Given the description of an element on the screen output the (x, y) to click on. 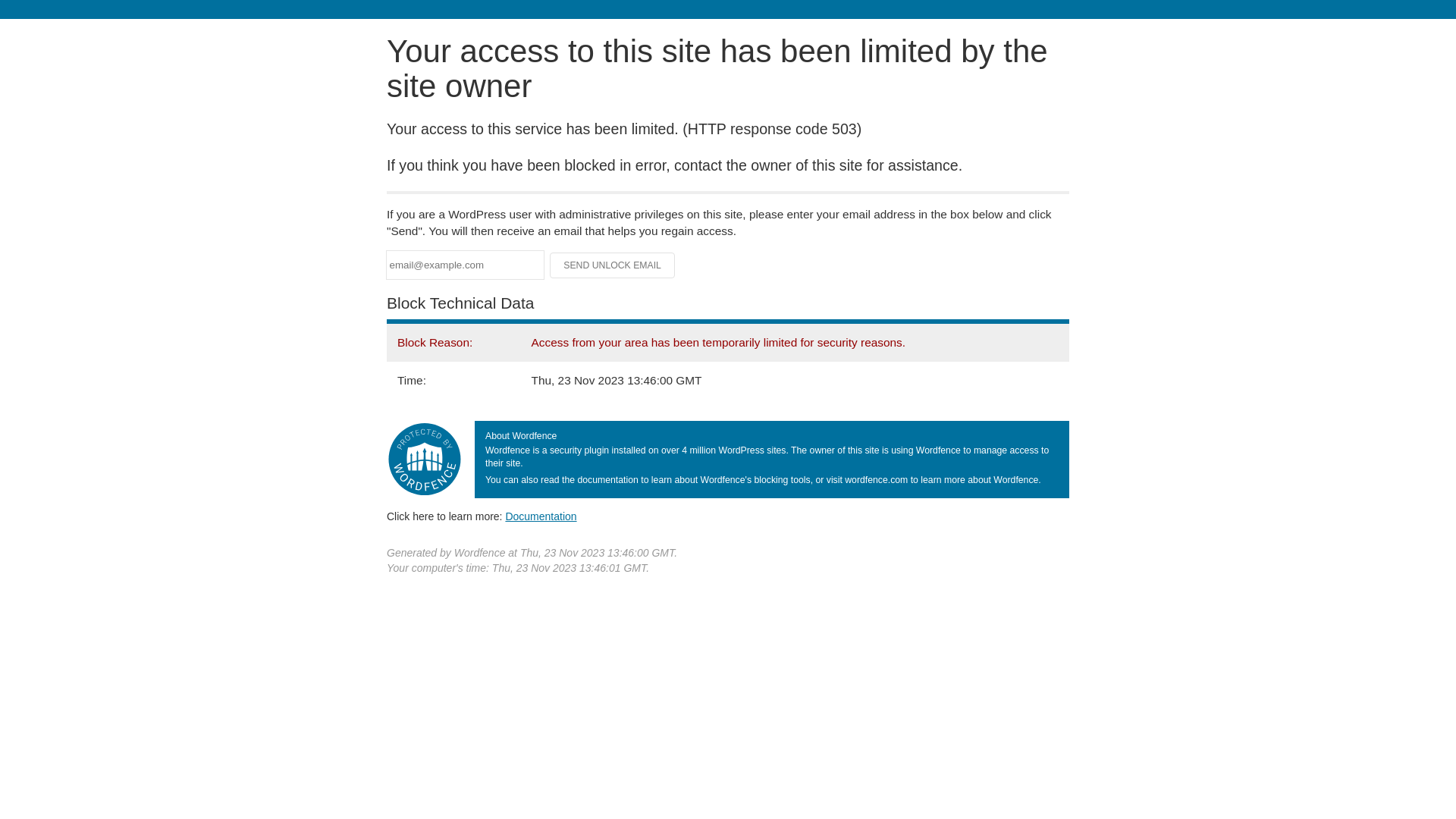
Send Unlock Email Element type: text (612, 265)
Documentation Element type: text (540, 516)
